Given the description of an element on the screen output the (x, y) to click on. 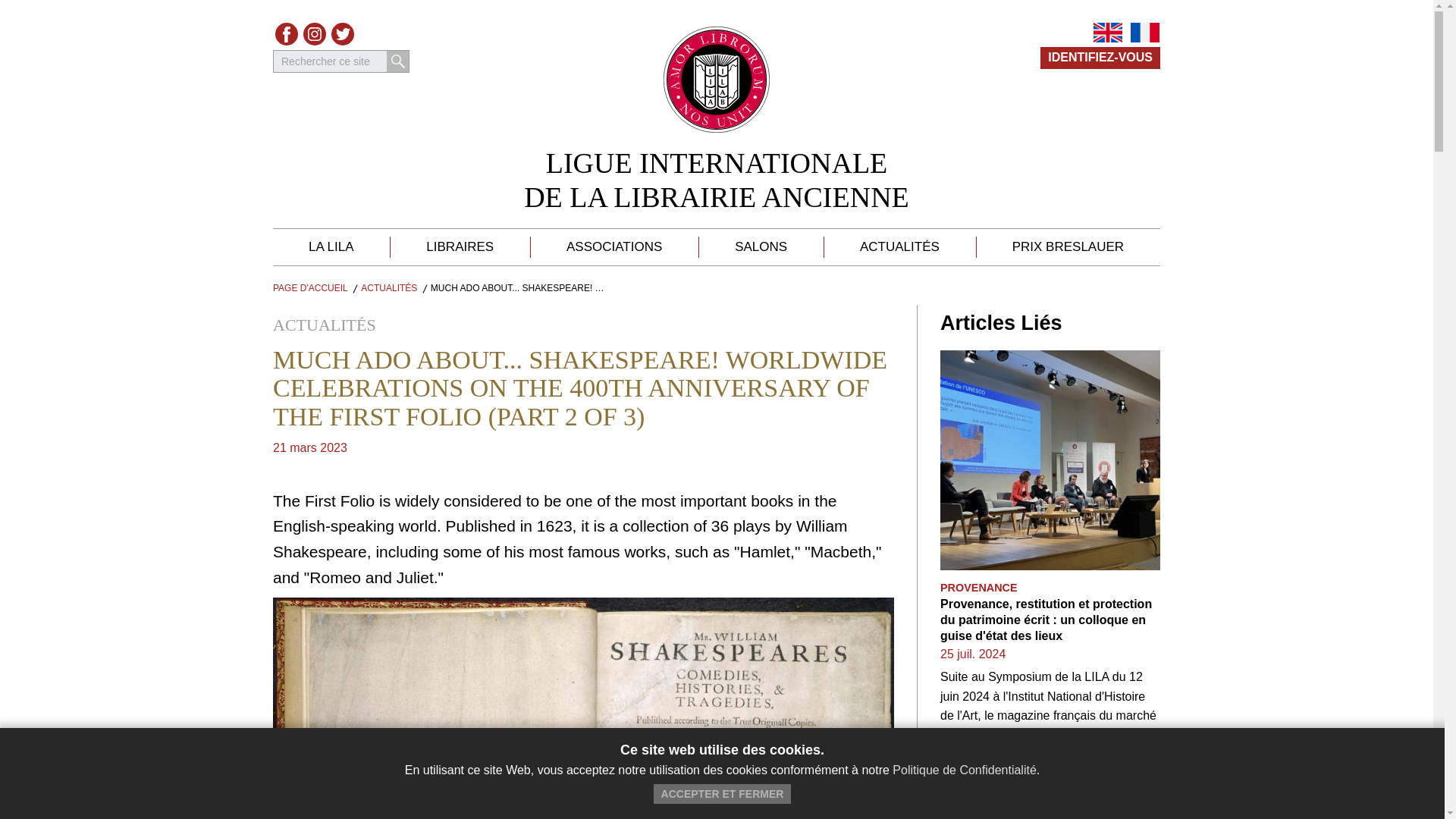
EN (1107, 32)
Voir nos messages Twitter (342, 33)
Voir notre flux Instagram (314, 33)
Instagram (314, 33)
FR (1144, 32)
RECHERCHER (398, 60)
Visitez notre page Facebook (286, 33)
ACCEPTER ET FERMER (722, 793)
PAGE D'ACCUEIL (310, 287)
IDENTIFIEZ-VOUS (1100, 57)
SALONS (761, 246)
ASSOCIATIONS (613, 246)
LIBRAIRES (459, 246)
LA LILA (331, 246)
PRIX BRESLAUER (1067, 246)
